Given the description of an element on the screen output the (x, y) to click on. 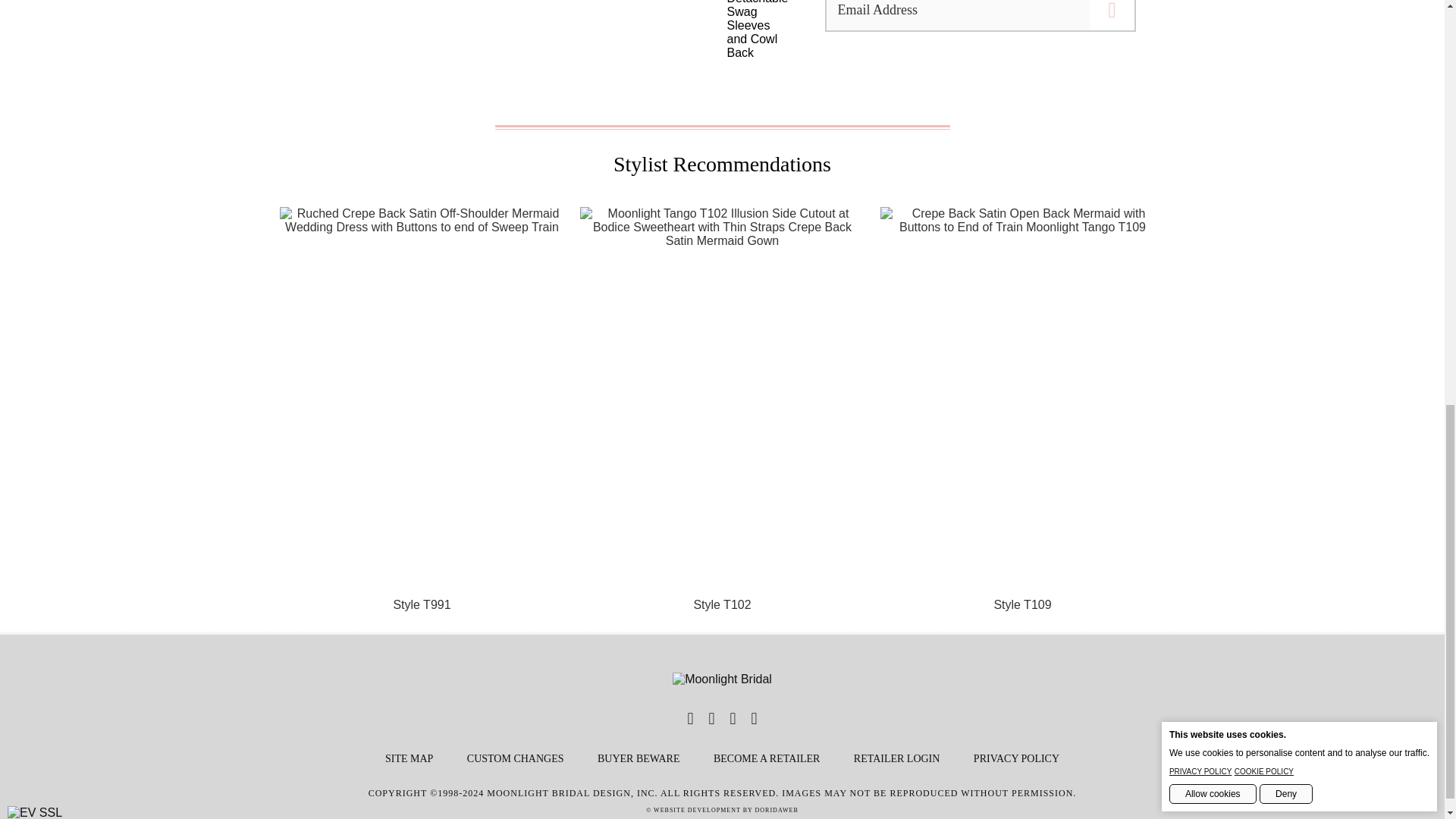
Moonlight Bridal (721, 679)
